Given the description of an element on the screen output the (x, y) to click on. 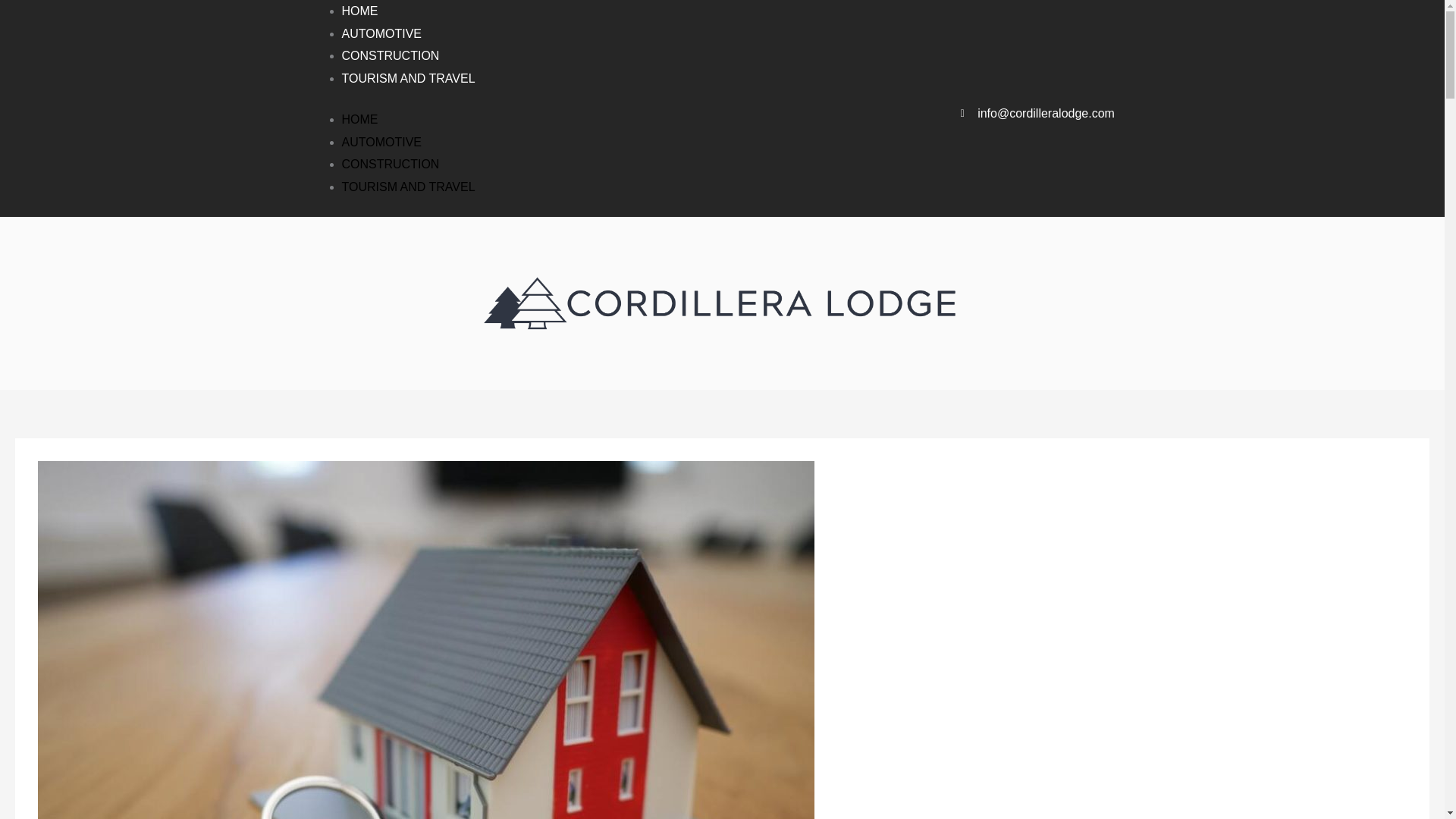
CONSTRUCTION (389, 55)
CONSTRUCTION (389, 164)
AUTOMOTIVE (381, 141)
TOURISM AND TRAVEL (407, 186)
HOME (358, 119)
HOME (358, 10)
TOURISM AND TRAVEL (407, 78)
AUTOMOTIVE (381, 33)
